Given the description of an element on the screen output the (x, y) to click on. 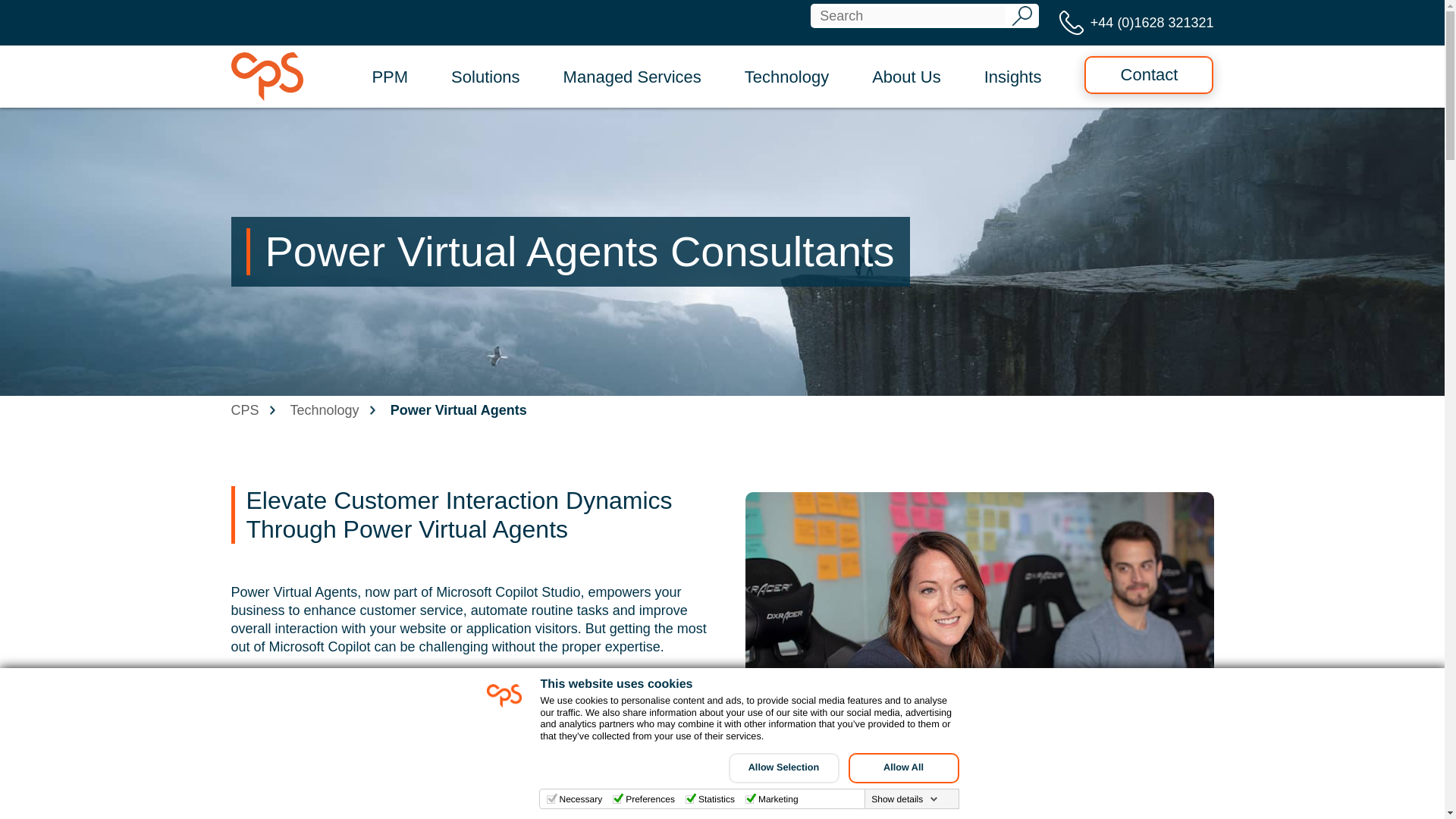
Show details (903, 799)
Allow All (902, 767)
Allow Selection (783, 767)
